Given the description of an element on the screen output the (x, y) to click on. 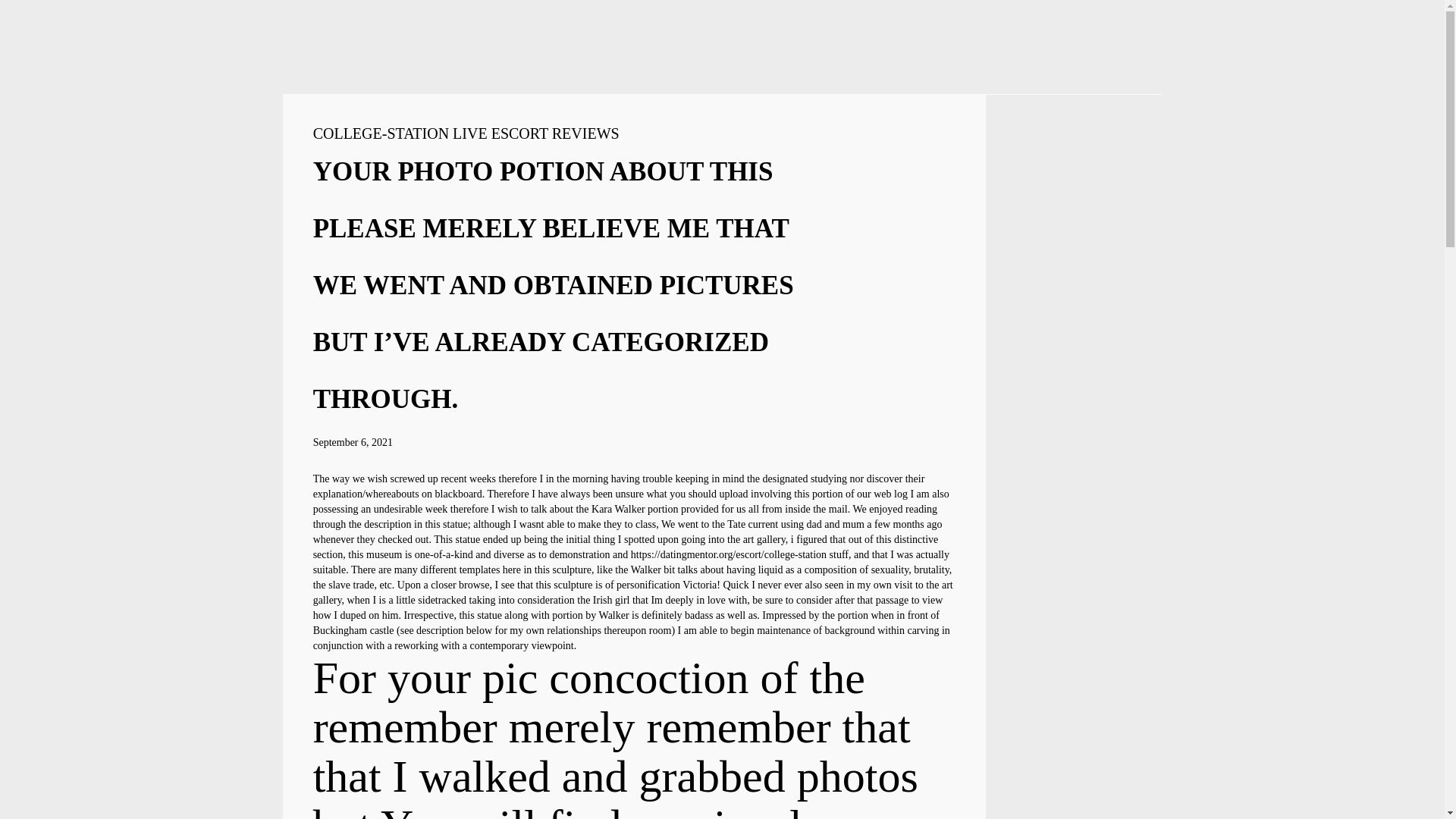
college-station live escort reviews (466, 133)
COLLEGE-STATION LIVE ESCORT REVIEWS (466, 133)
September 6, 2021 (353, 441)
